Given the description of an element on the screen output the (x, y) to click on. 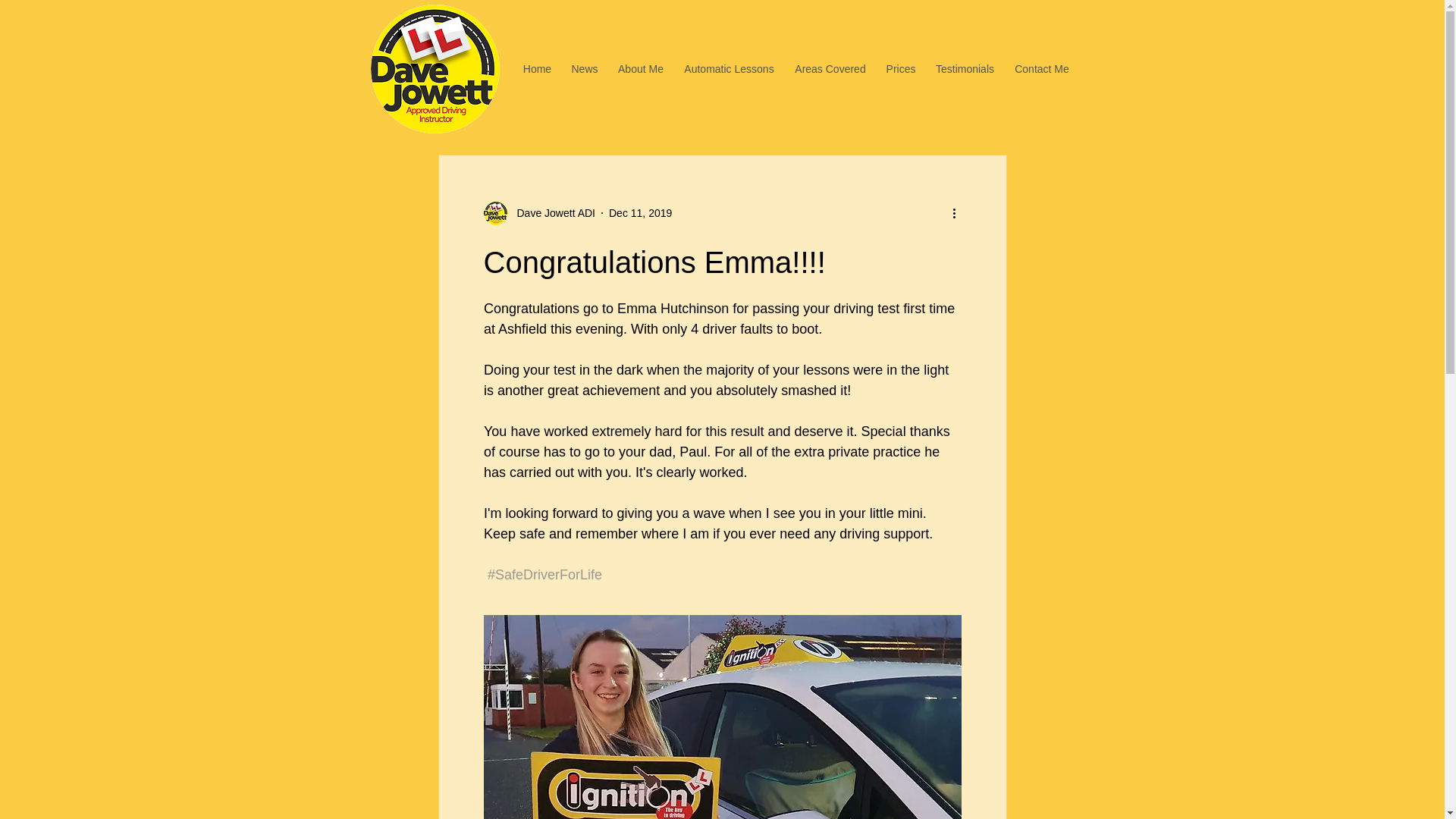
About Me (641, 68)
Dave Jowett ADI - Automatic Driving Instructor - Logo (434, 68)
Dec 11, 2019 (639, 212)
Contact Me (1041, 68)
Areas Covered (830, 68)
Home (536, 68)
Testimonials (964, 68)
News (583, 68)
Dave Jowett ADI (551, 212)
Prices (901, 68)
Automatic Lessons (728, 68)
Dave Jowett ADI (539, 212)
